Given the description of an element on the screen output the (x, y) to click on. 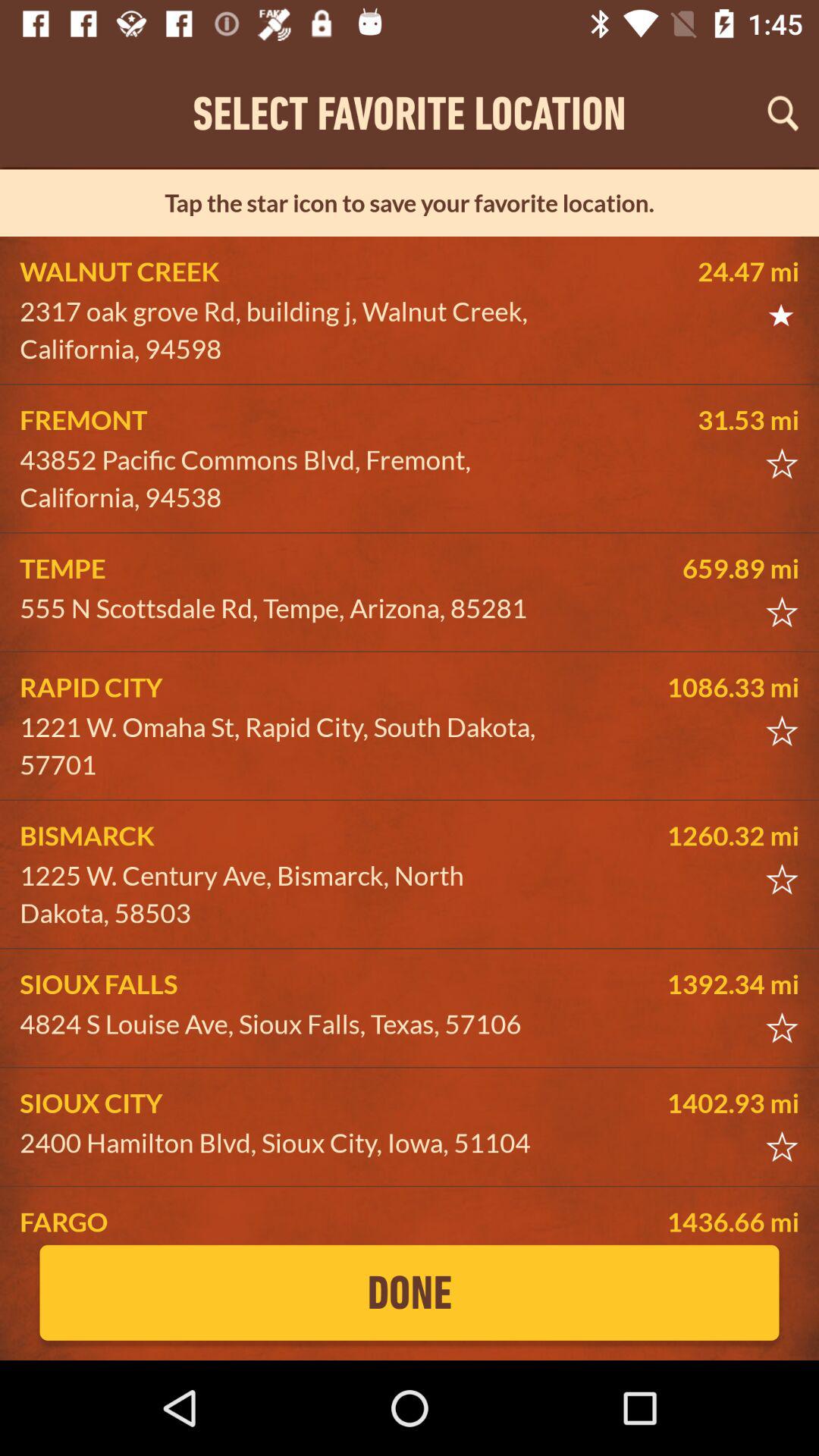
press the item above bismarck (285, 745)
